Given the description of an element on the screen output the (x, y) to click on. 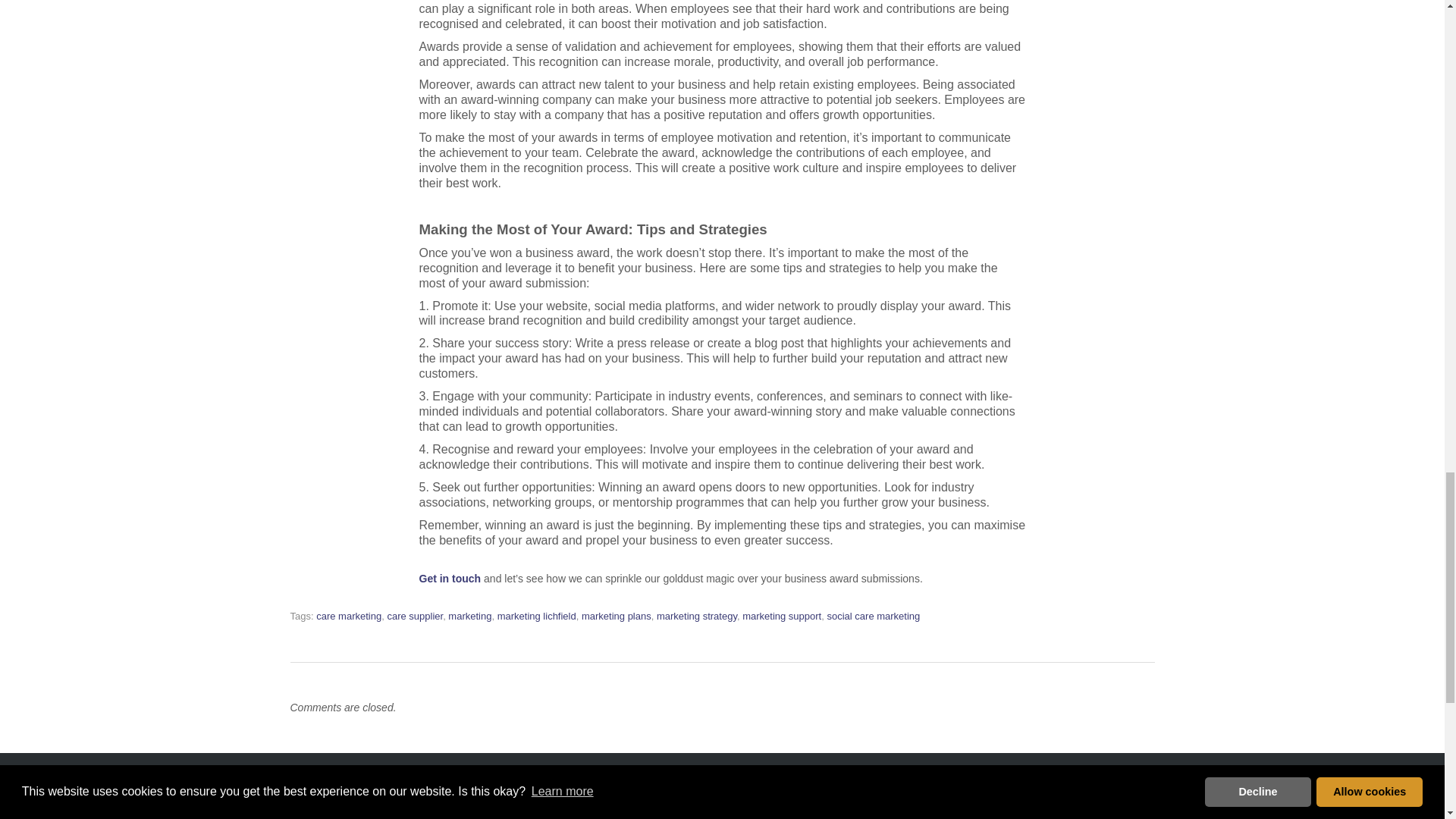
care supplier (414, 615)
care marketing (348, 615)
Get in touch (449, 578)
marketing (470, 615)
